Given the description of an element on the screen output the (x, y) to click on. 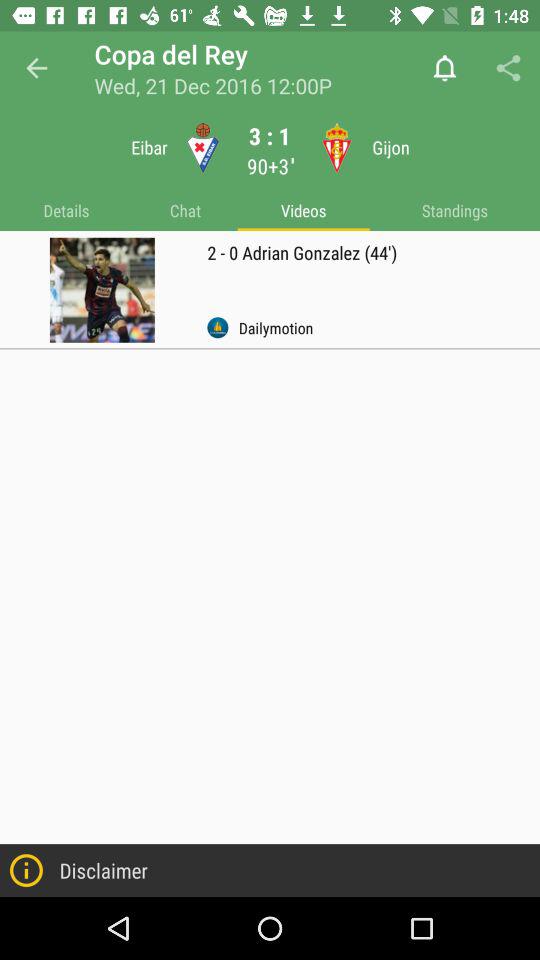
click on chat (185, 211)
go to left of disclaimer (26, 869)
select the logo which is after eibar (202, 147)
select bell button icon is before share button (445, 68)
select  share icon beside bell icon on the page (508, 68)
